Given the description of an element on the screen output the (x, y) to click on. 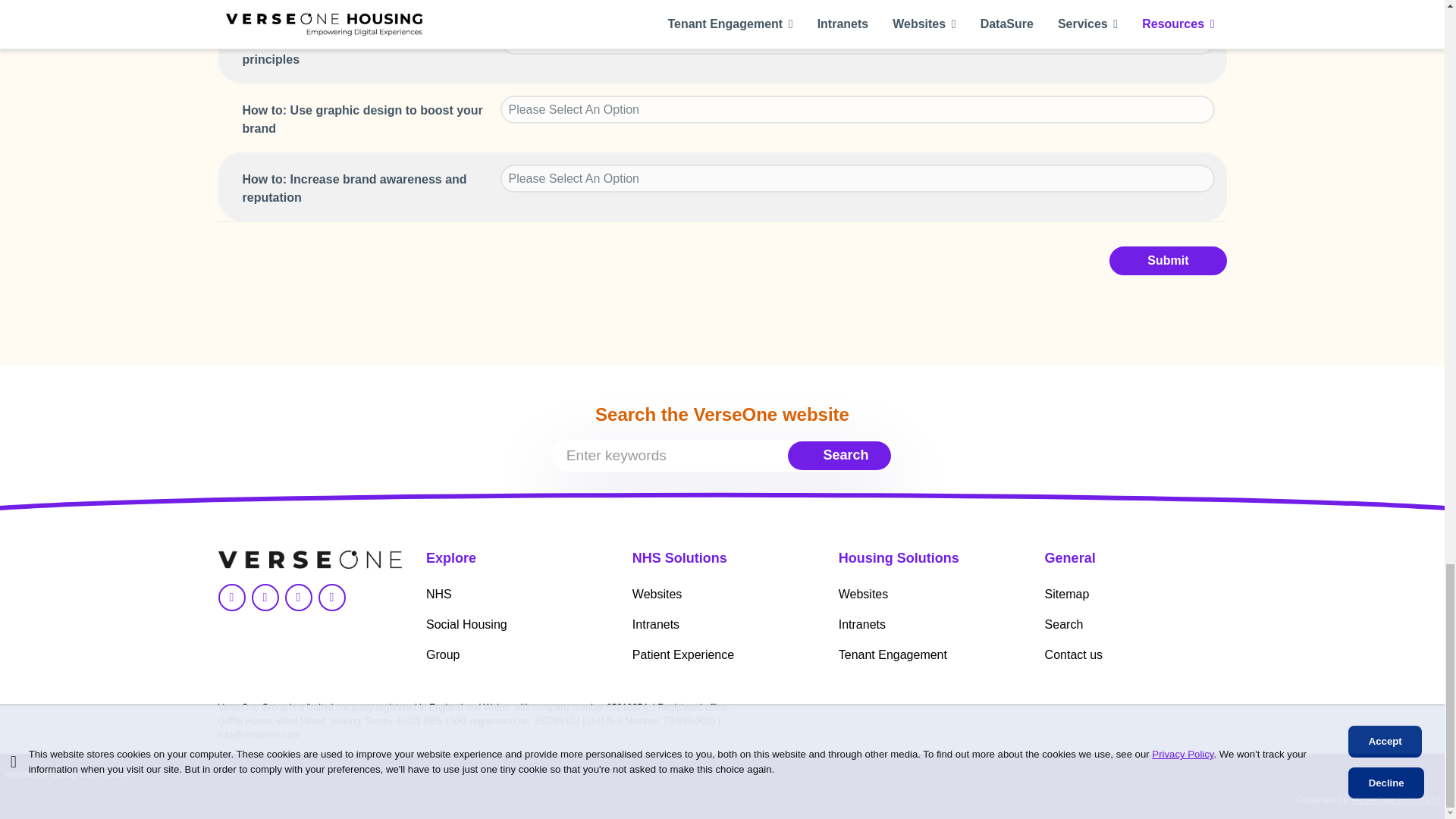
Submit (1167, 260)
Search (841, 453)
search (722, 454)
